Given the description of an element on the screen output the (x, y) to click on. 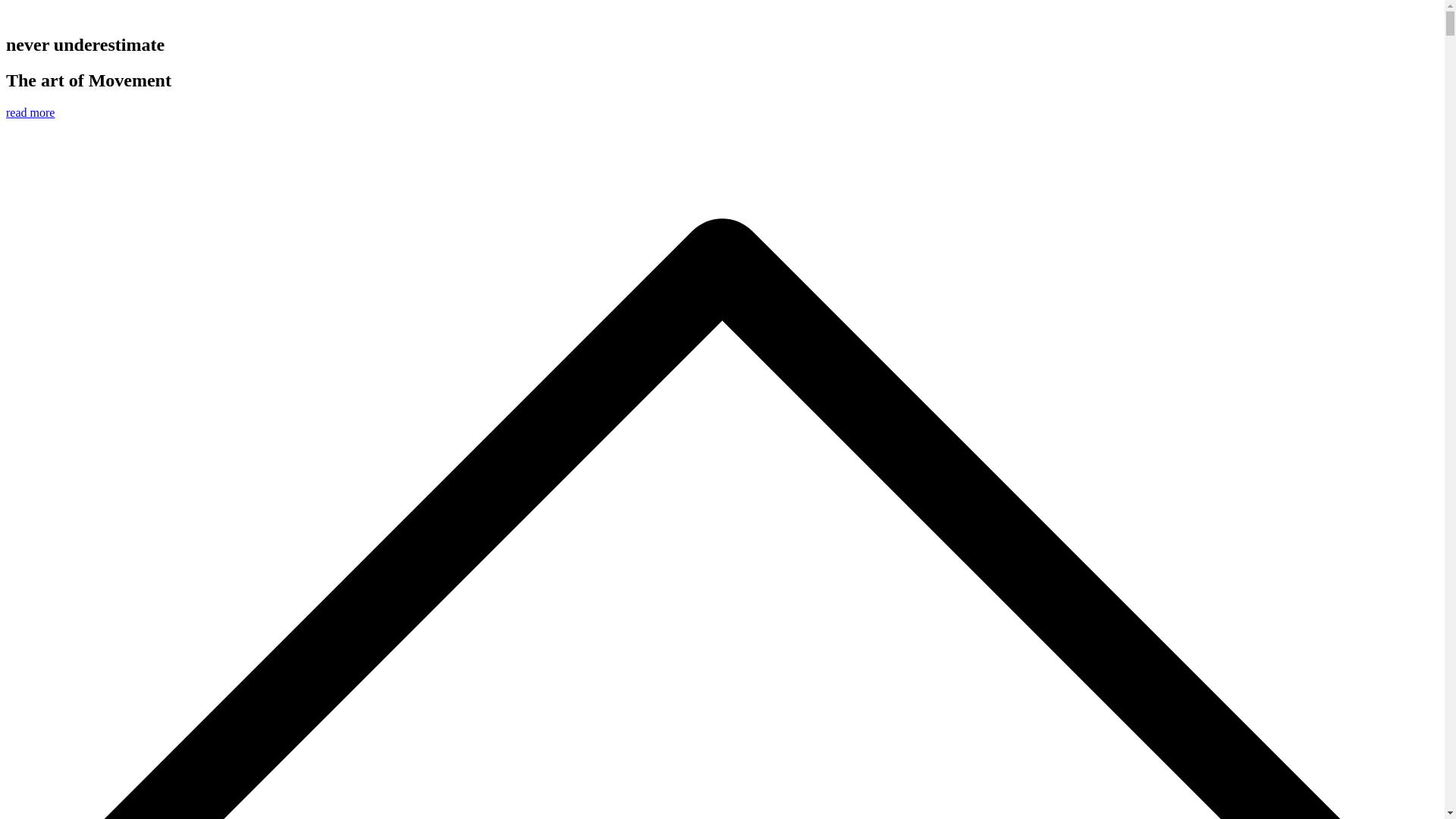
read more (30, 112)
